Given the description of an element on the screen output the (x, y) to click on. 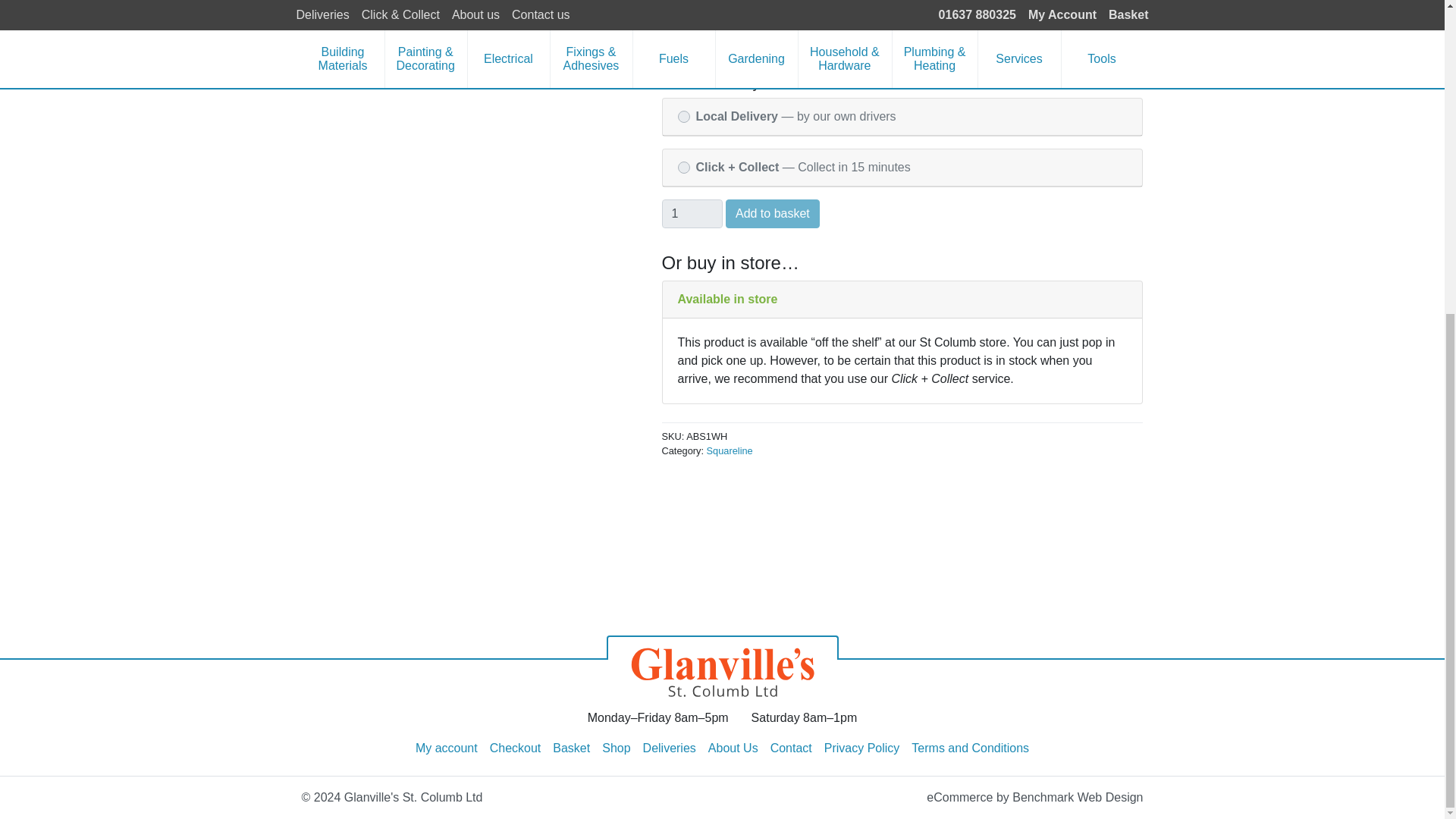
1 (691, 213)
Glanville's St. Columb Ltd (722, 665)
Qty (691, 213)
